Given the description of an element on the screen output the (x, y) to click on. 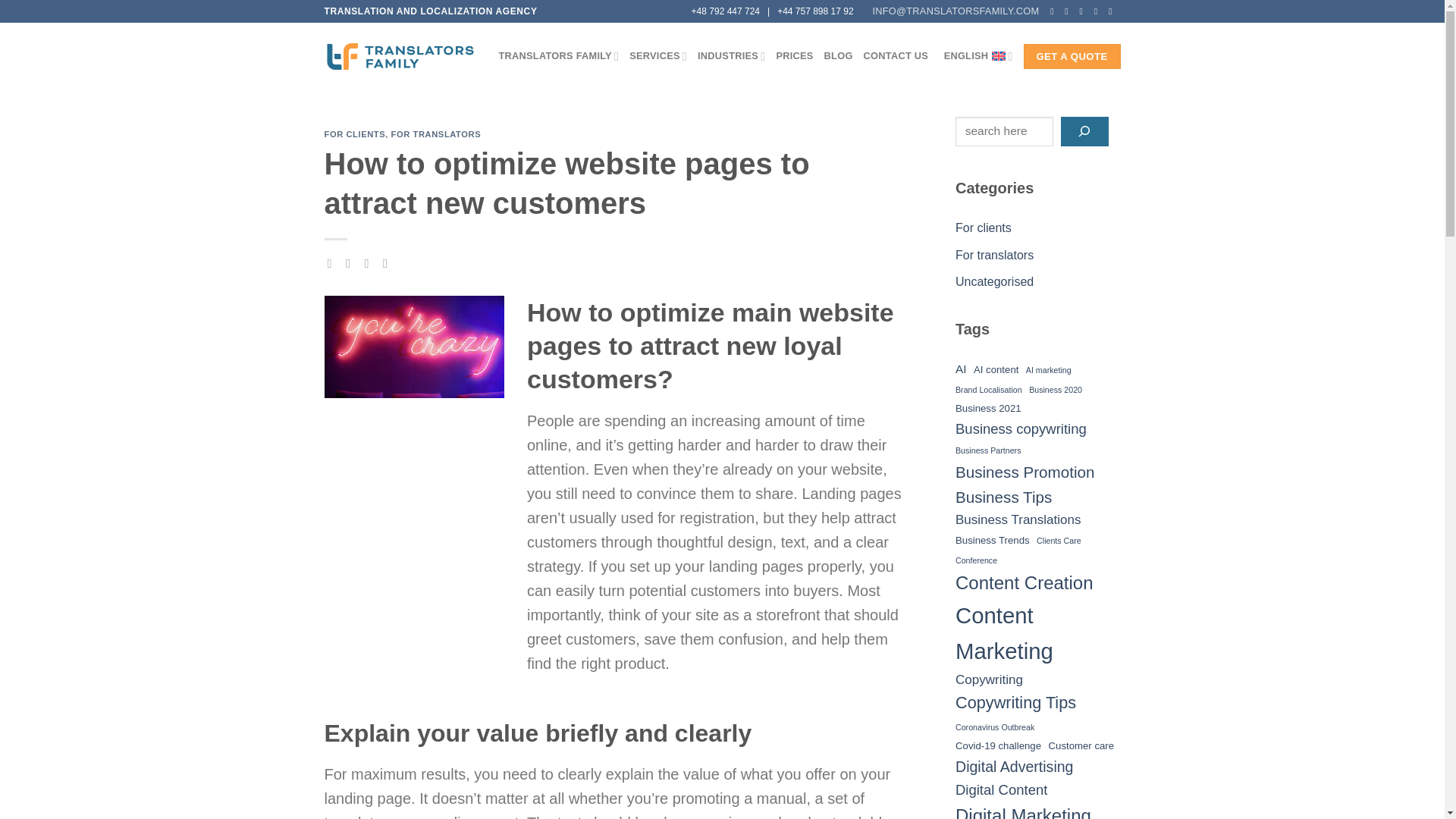
BLOG (838, 55)
SERVICES (657, 55)
TRANSLATORS FAMILY (559, 55)
PRICES (794, 55)
Translators Family - Translation and localization agency (400, 56)
INDUSTRIES (731, 55)
